Given the description of an element on the screen output the (x, y) to click on. 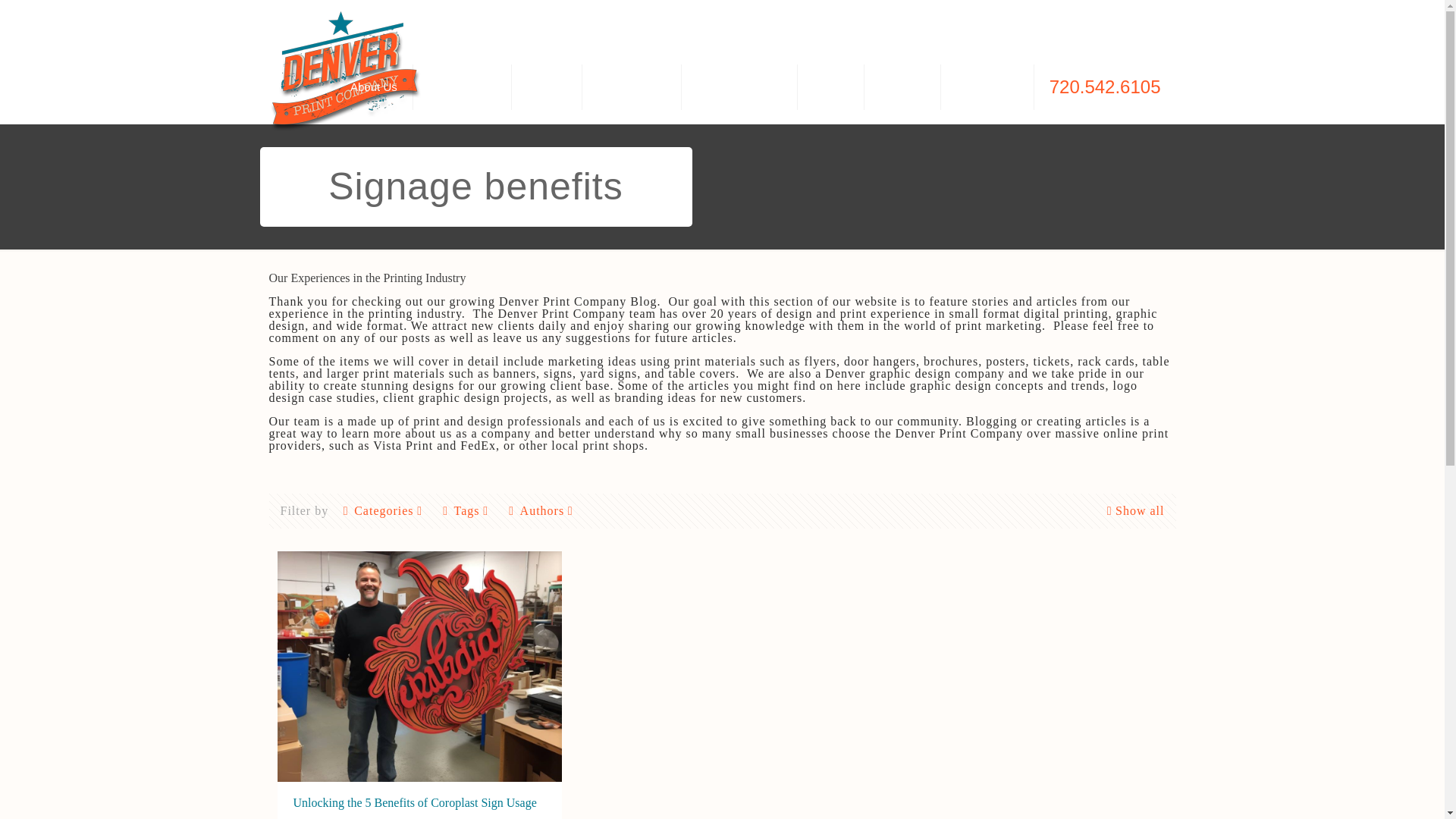
Apparel (547, 87)
Denver Print Company (343, 72)
Small Format (462, 87)
About Us (373, 87)
Large Format (631, 87)
